Given the description of an element on the screen output the (x, y) to click on. 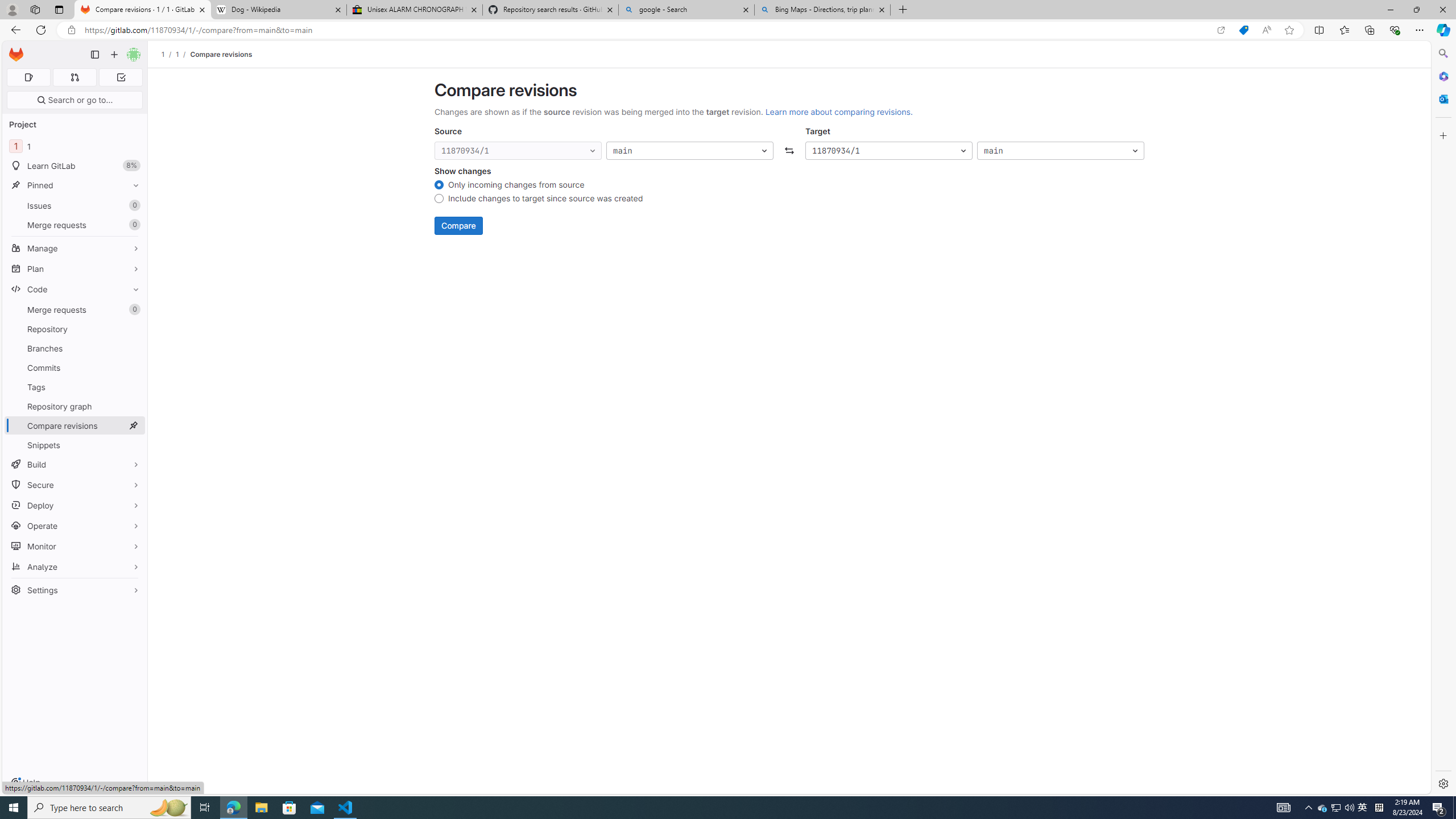
Monitor (74, 546)
Compare revisions (220, 53)
Analyze (74, 566)
Secure (74, 484)
Assigned issues 0 (28, 76)
Pinned (74, 185)
Learn GitLab8% (74, 165)
Analyze (74, 566)
